Given the description of an element on the screen output the (x, y) to click on. 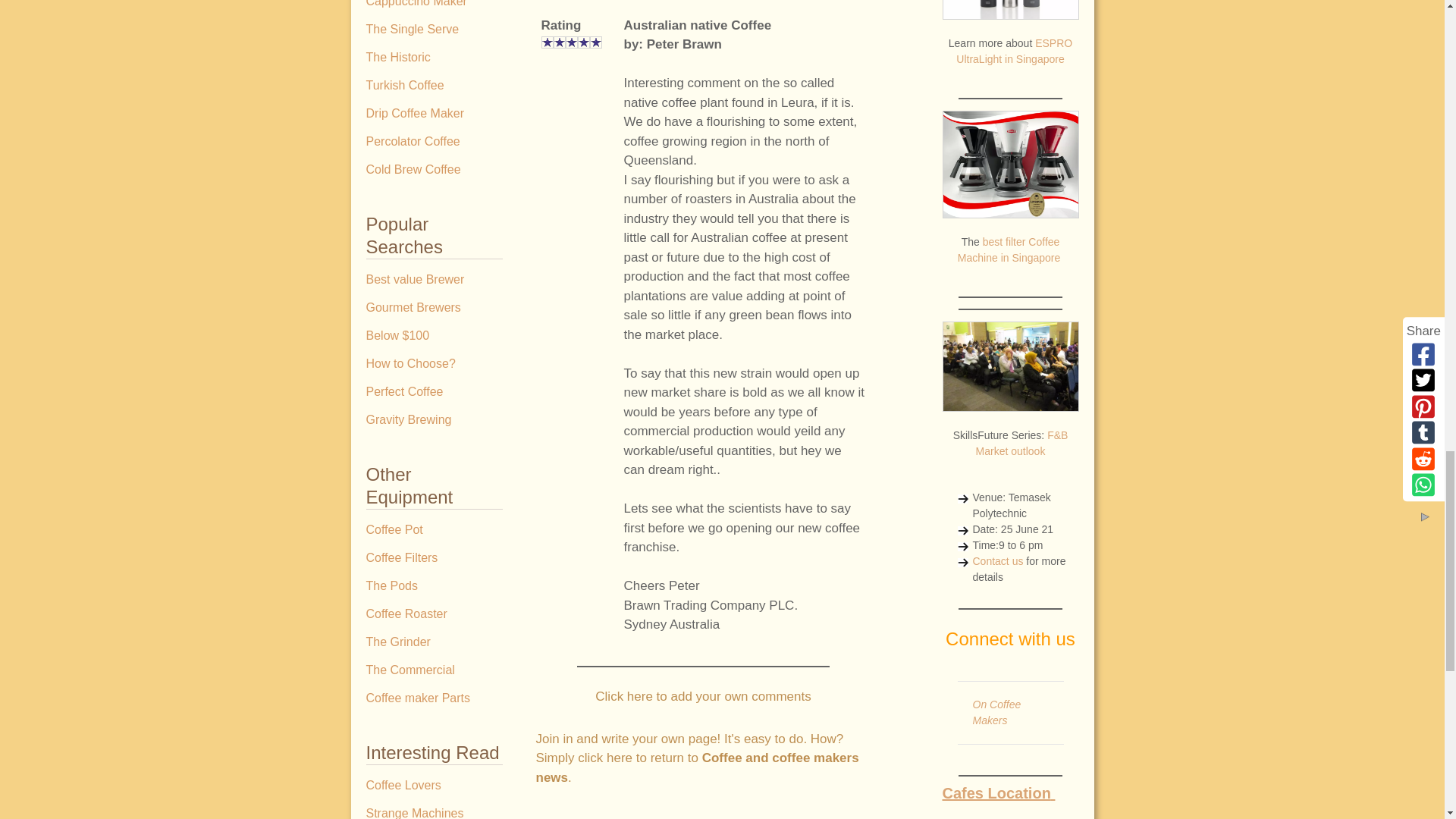
Click here to add your own comments (702, 696)
